Given the description of an element on the screen output the (x, y) to click on. 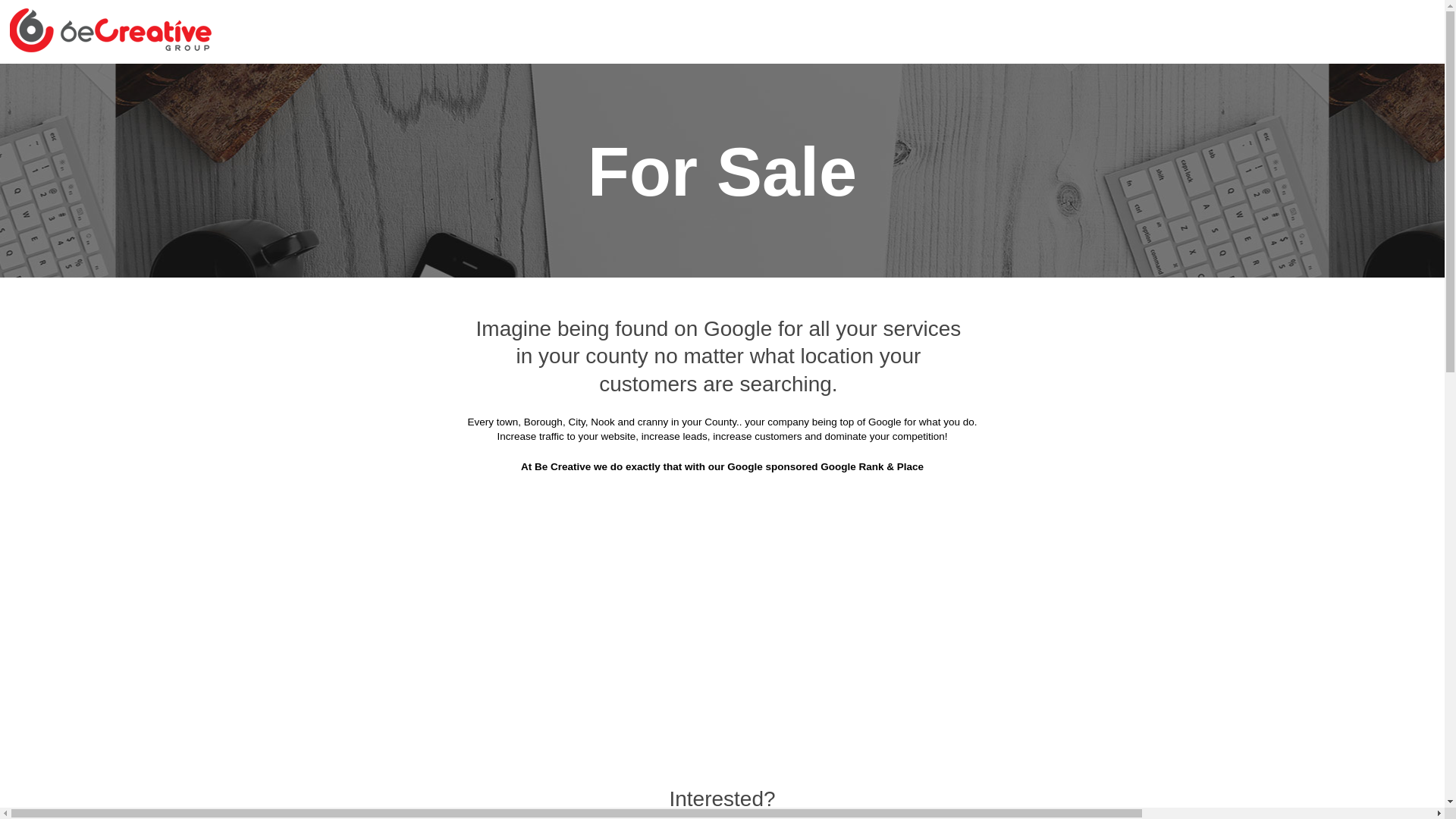
Aggregate Suppliers Bideford Devon (617, 121)
Aggregate Suppliers Holsworthy Devon (1076, 346)
Aggregate Suppliers Helston Cornwall (850, 346)
Aggregate Suppliers Ashburton Devon (855, 83)
Aggregate Suppliers Honiton Devon (405, 383)
Aggregate Suppliers Cornwall (488, 83)
Aggregate Suppliers Bodmin Cornwall (837, 121)
Aggregate Suppliers Axminster Devon (1080, 83)
Aggregate Suppliers Bovey Tracey Devon (1070, 121)
Aggregate Suppliers Camelford Cornwall (390, 234)
Aggregate Suppliers Dartmouth Devon (443, 271)
Aggregate Suppliers Barnstaple Devon (395, 121)
Aggregate Suppliers Exmouth Devon (1083, 271)
Aggregate Suppliers Ivybridge Devon (848, 383)
Aggregate Suppliers Ilfracombe Devon (625, 383)
